Given the description of an element on the screen output the (x, y) to click on. 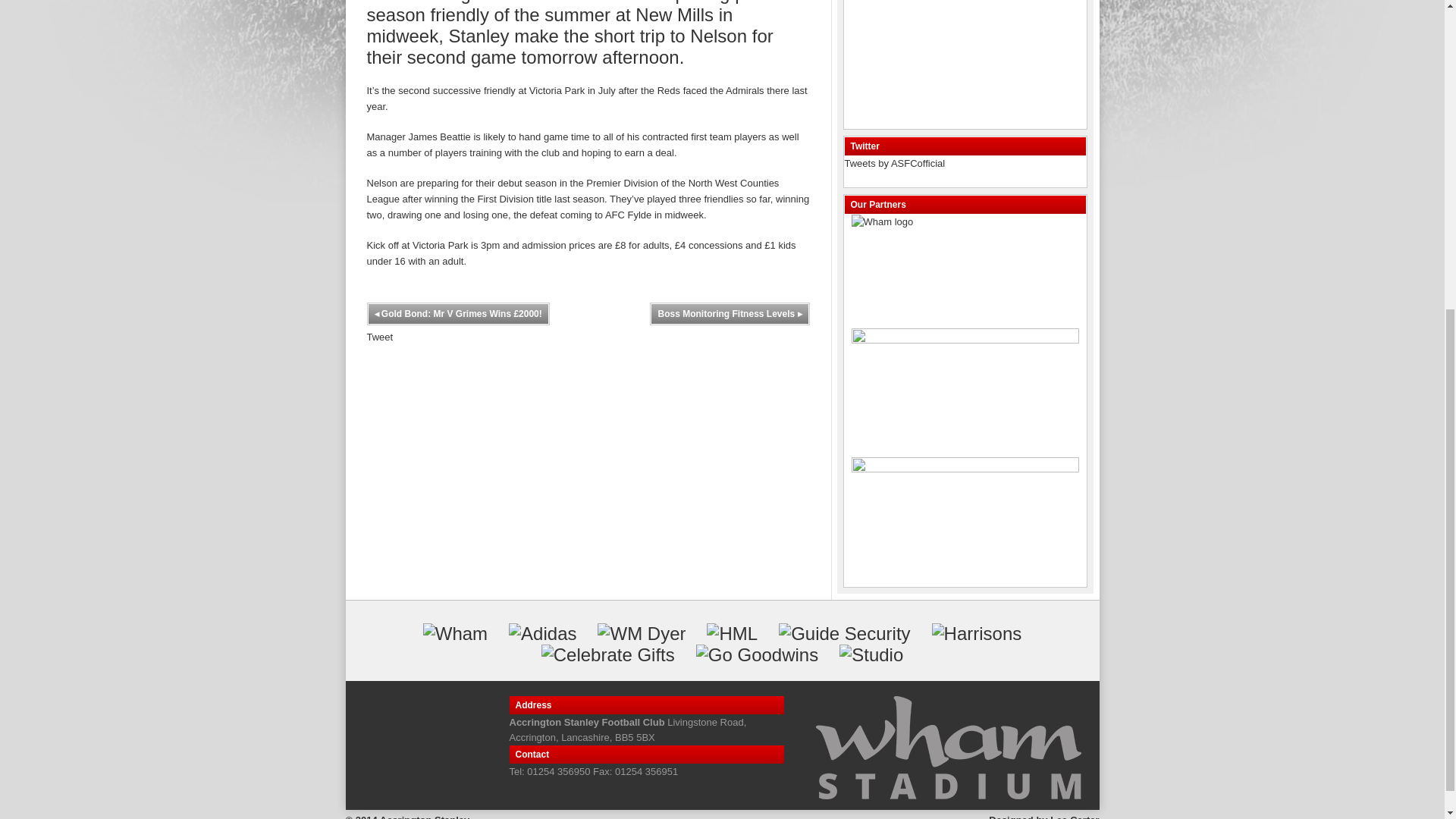
HML (731, 633)
Go Goodwins (756, 654)
Adidas (542, 633)
WM Dyer (640, 633)
Celebrate Gifts (608, 654)
Harrisons (976, 633)
Studio (871, 654)
Wham (455, 633)
Guide Security (844, 633)
